Given the description of an element on the screen output the (x, y) to click on. 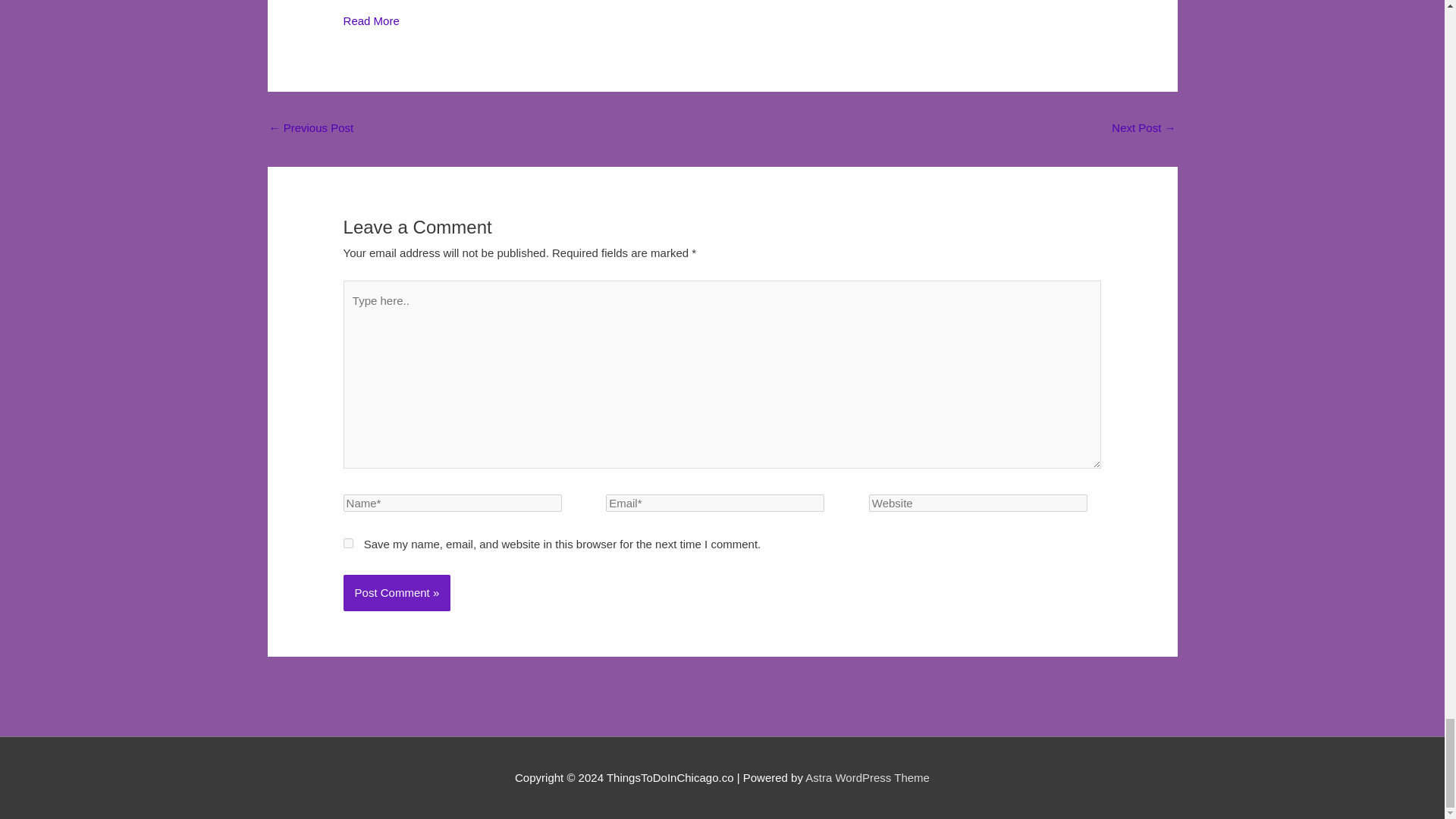
yes (348, 542)
